Given the description of an element on the screen output the (x, y) to click on. 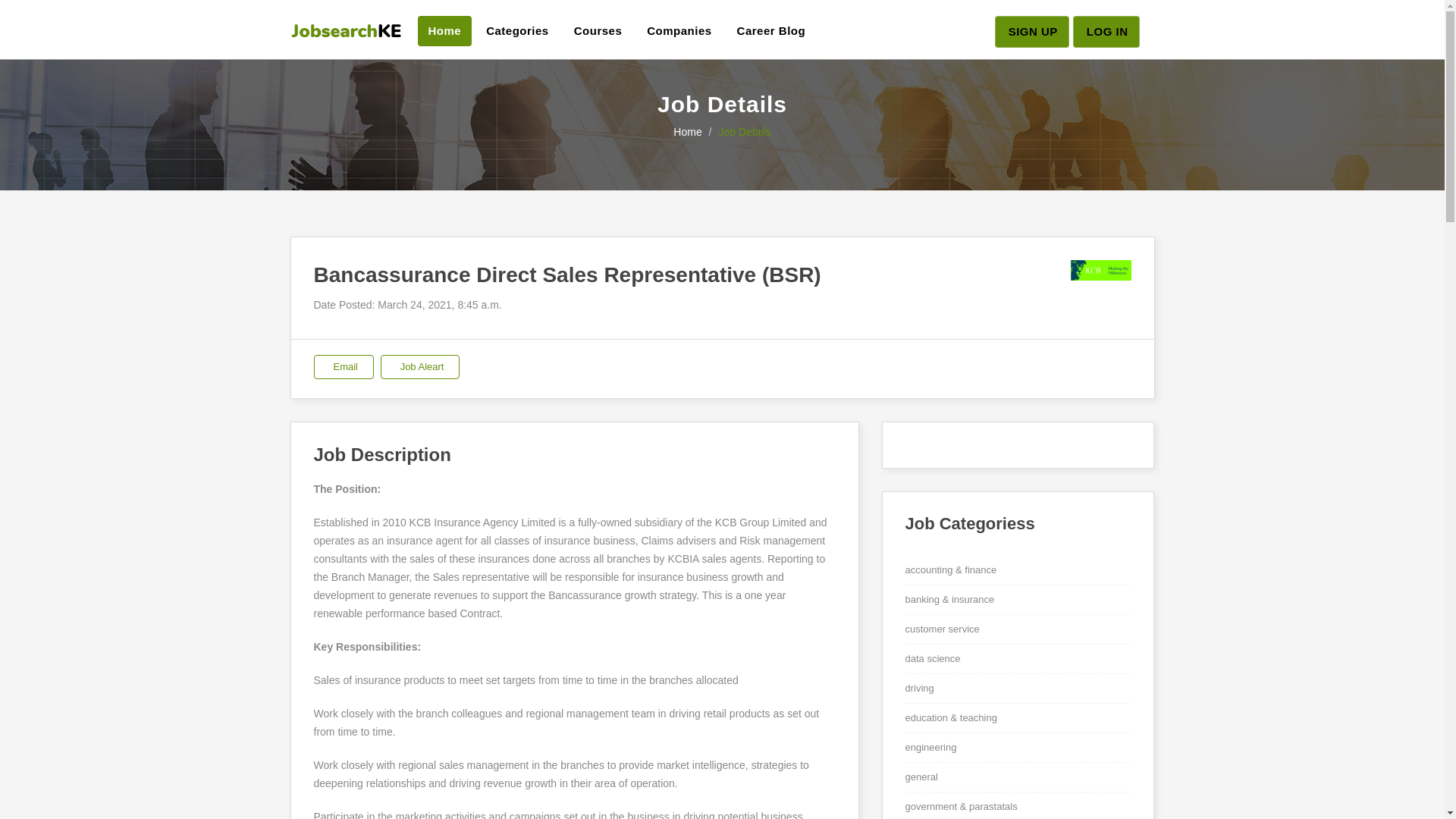
Categories (517, 30)
LOG IN (1106, 31)
Home (443, 30)
Companies (679, 30)
Career Blog (771, 30)
SIGN UP (1031, 31)
Courses (598, 30)
